Given the description of an element on the screen output the (x, y) to click on. 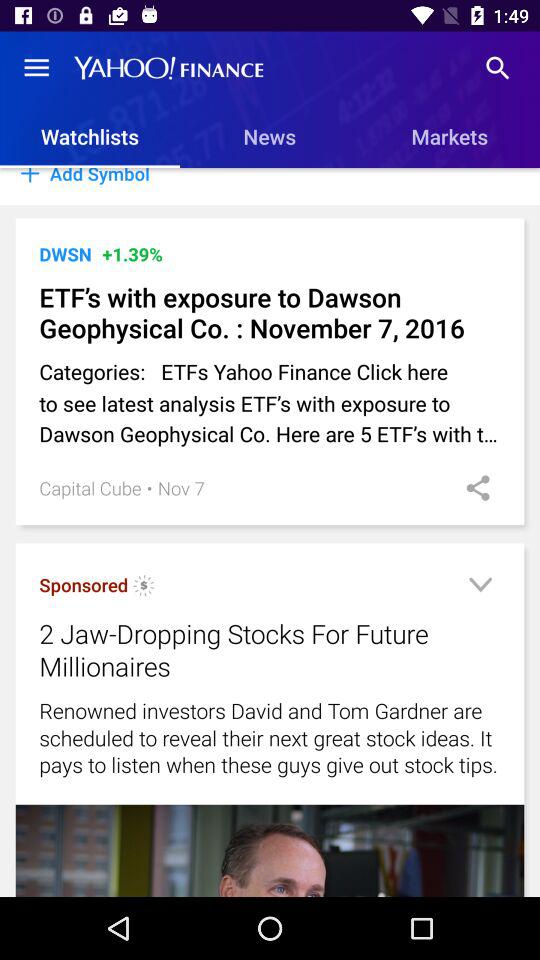
press icon to the right of the capital cube item (149, 487)
